Given the description of an element on the screen output the (x, y) to click on. 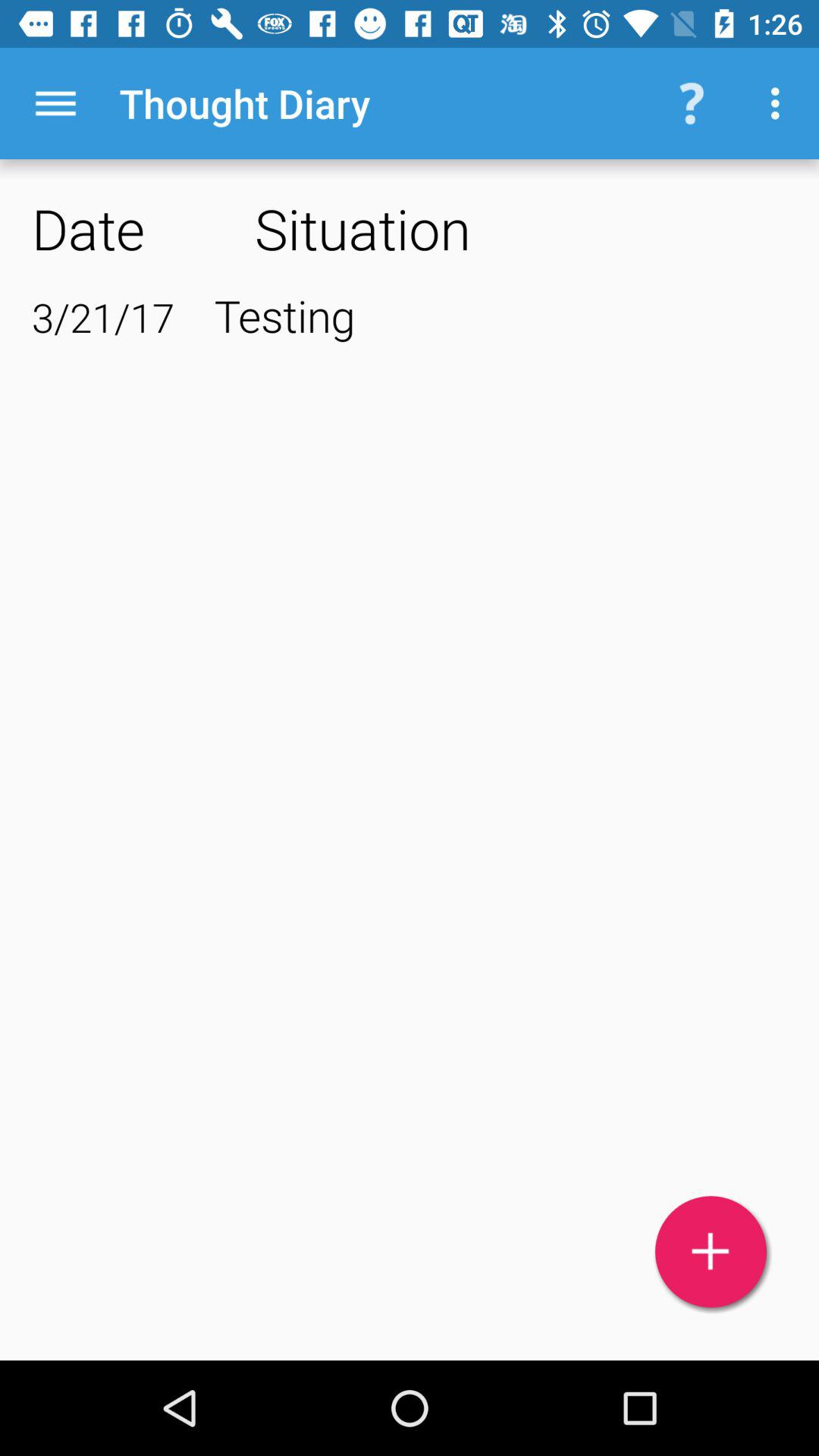
tap the app above situation item (779, 103)
